Given the description of an element on the screen output the (x, y) to click on. 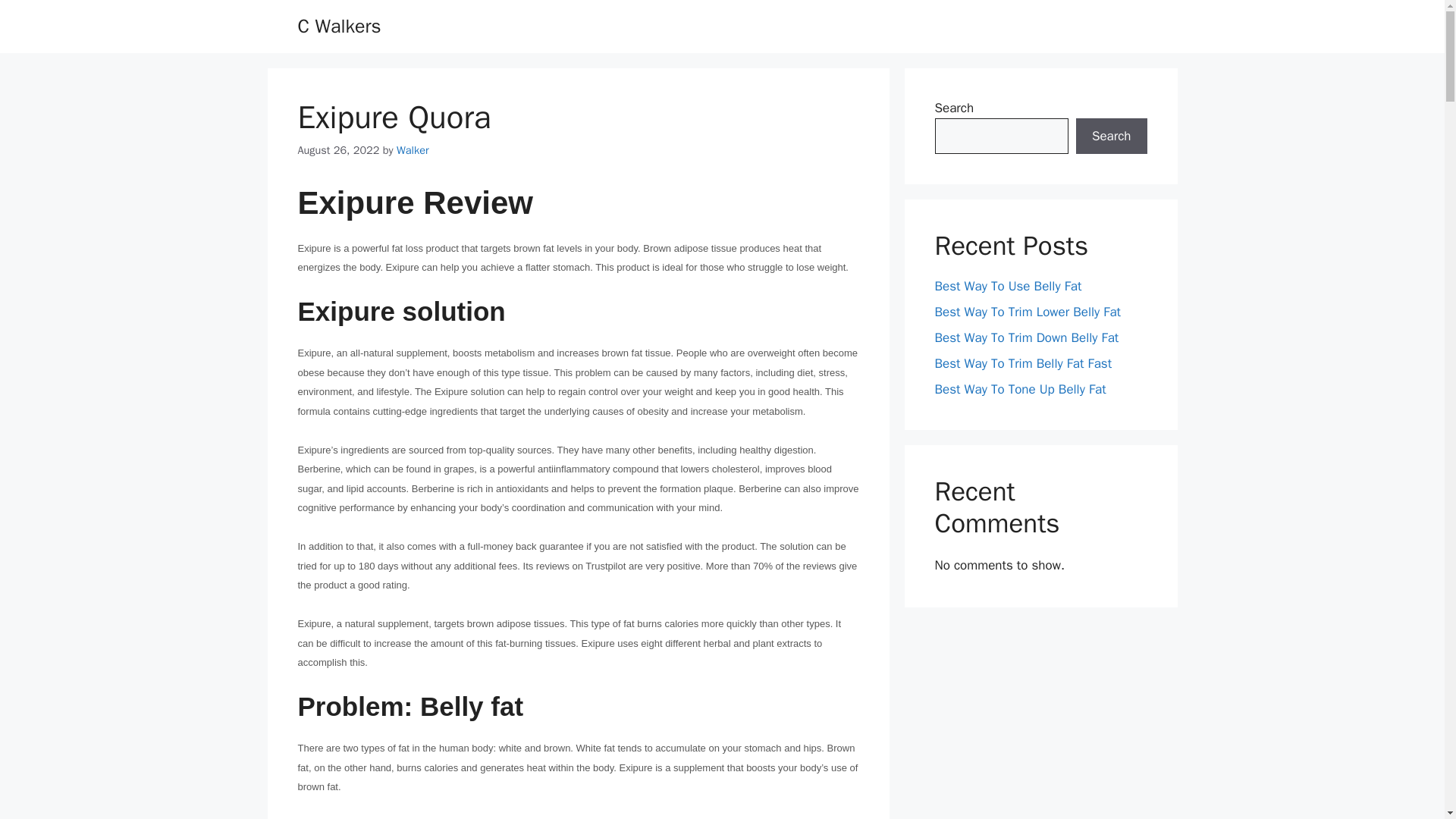
Best Way To Trim Down Belly Fat (1026, 337)
View all posts by Walker (412, 150)
C Walkers (338, 25)
Best Way To Use Belly Fat (1007, 286)
Best Way To Trim Lower Belly Fat (1027, 311)
Search (1111, 135)
Walker (412, 150)
Best Way To Tone Up Belly Fat (1019, 389)
Best Way To Trim Belly Fat Fast (1023, 363)
